Given the description of an element on the screen output the (x, y) to click on. 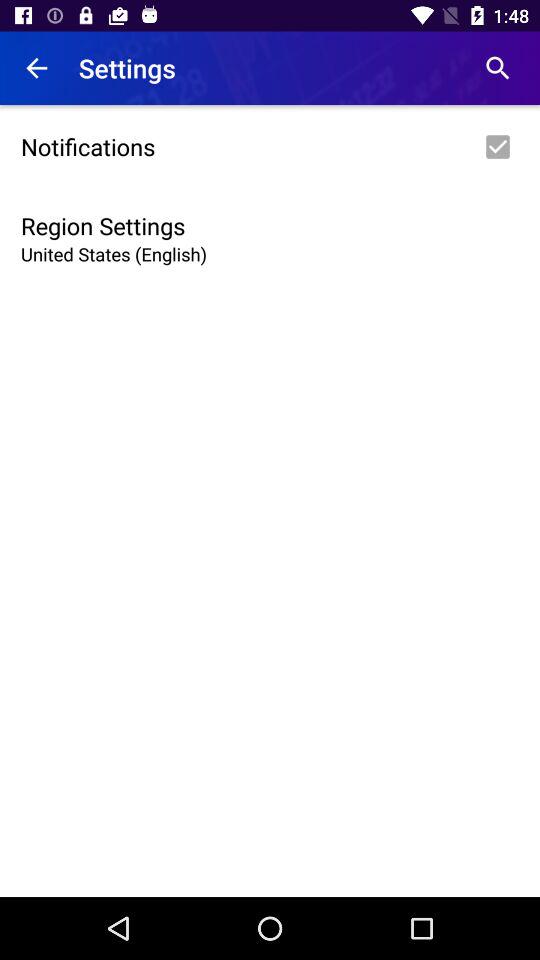
scroll to the notifications item (270, 147)
